Given the description of an element on the screen output the (x, y) to click on. 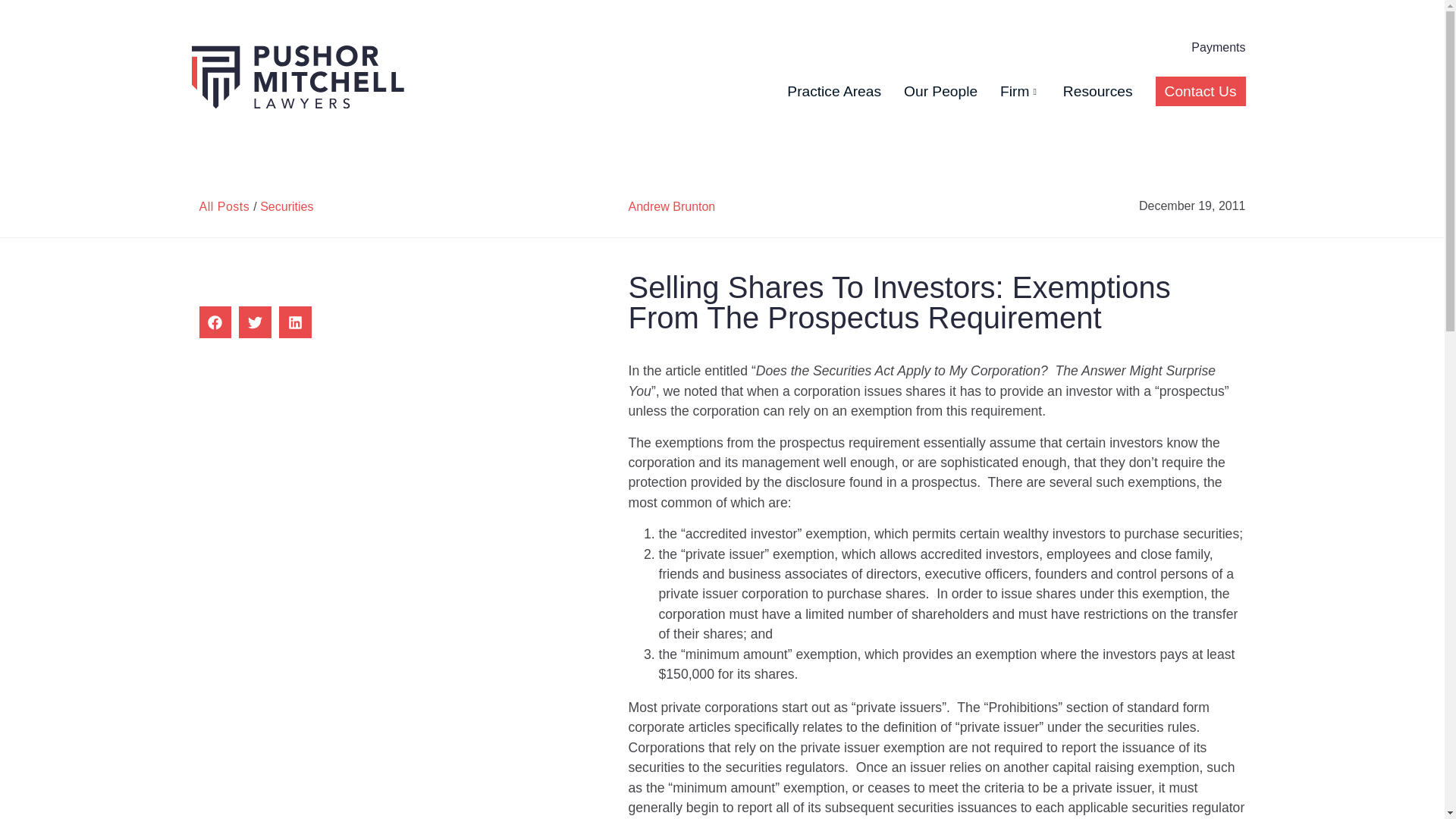
Firm (1020, 91)
Resources (1097, 91)
Payments (1217, 47)
Posts by Andrew Brunton (672, 205)
Practice Areas (833, 91)
Our People (940, 91)
Contact Us (1201, 91)
